Given the description of an element on the screen output the (x, y) to click on. 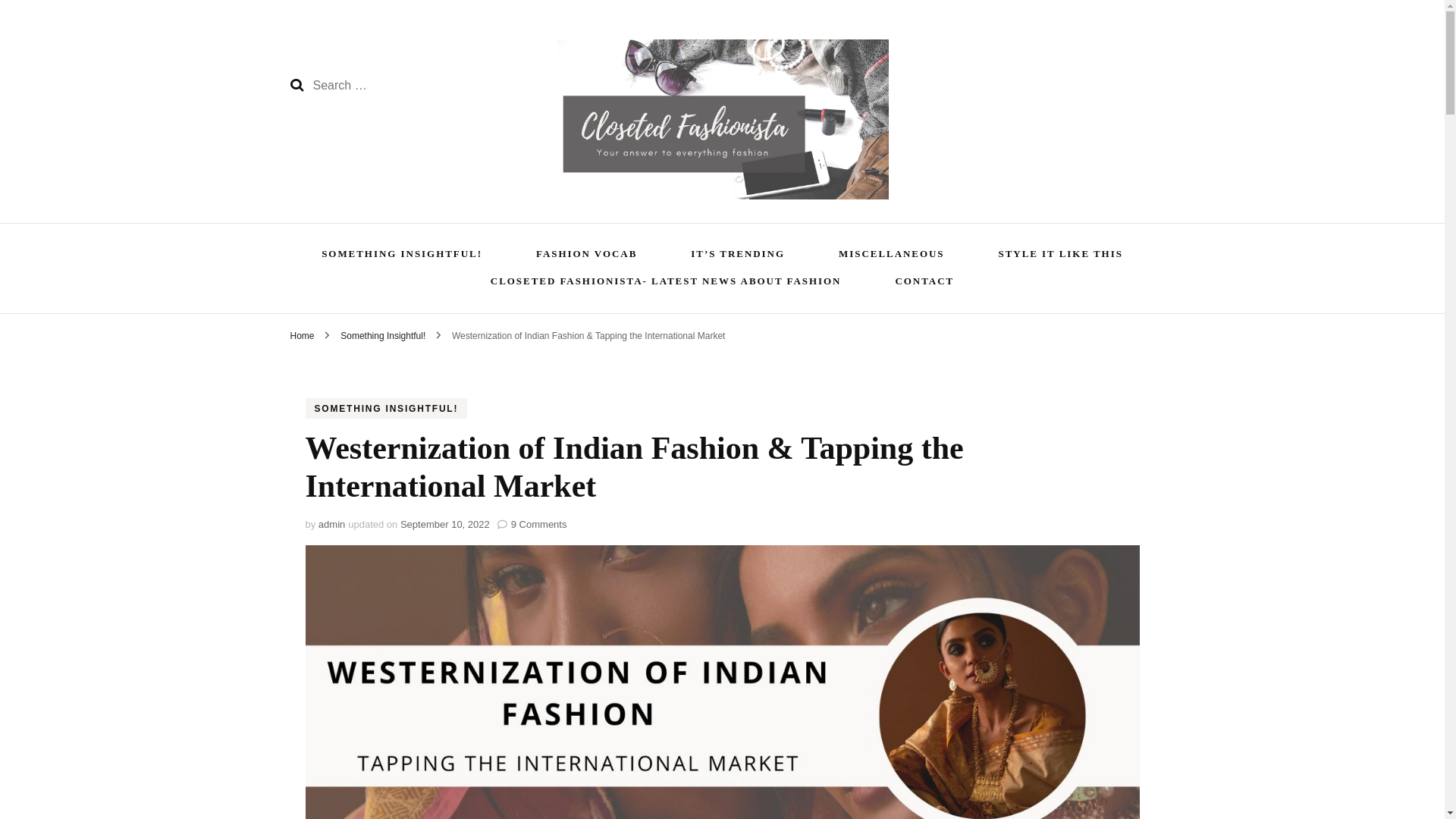
Closeted Fashionista (934, 251)
CONTACT (924, 283)
Search (295, 84)
SOMETHING INSIGHTFUL! (401, 255)
September 10, 2022 (444, 523)
Search (295, 84)
Search (295, 84)
MISCELLANEOUS (891, 255)
admin (331, 523)
Something Insightful! (384, 335)
